Given the description of an element on the screen output the (x, y) to click on. 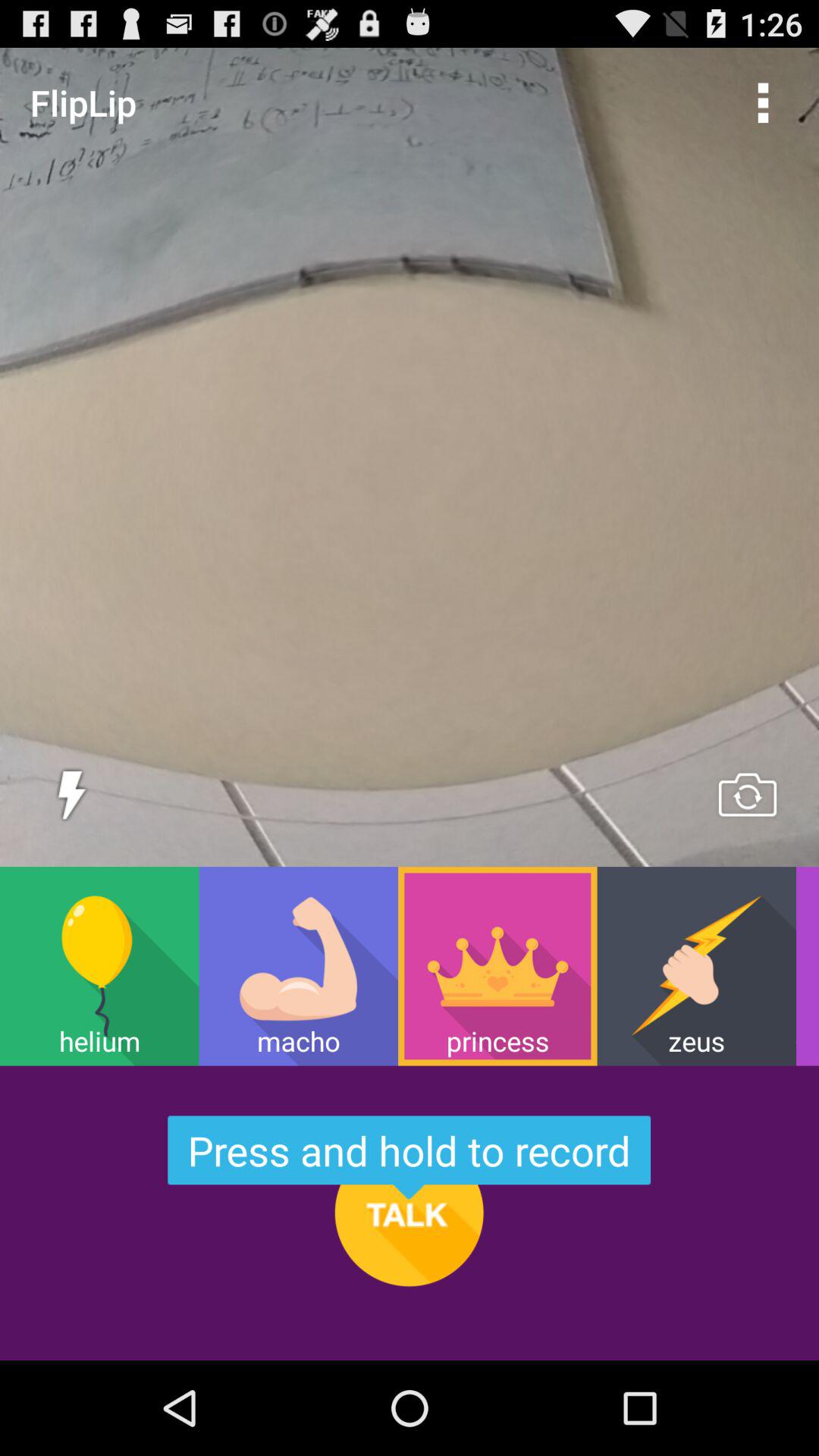
click icon to the right of the fliplip item (763, 102)
